Given the description of an element on the screen output the (x, y) to click on. 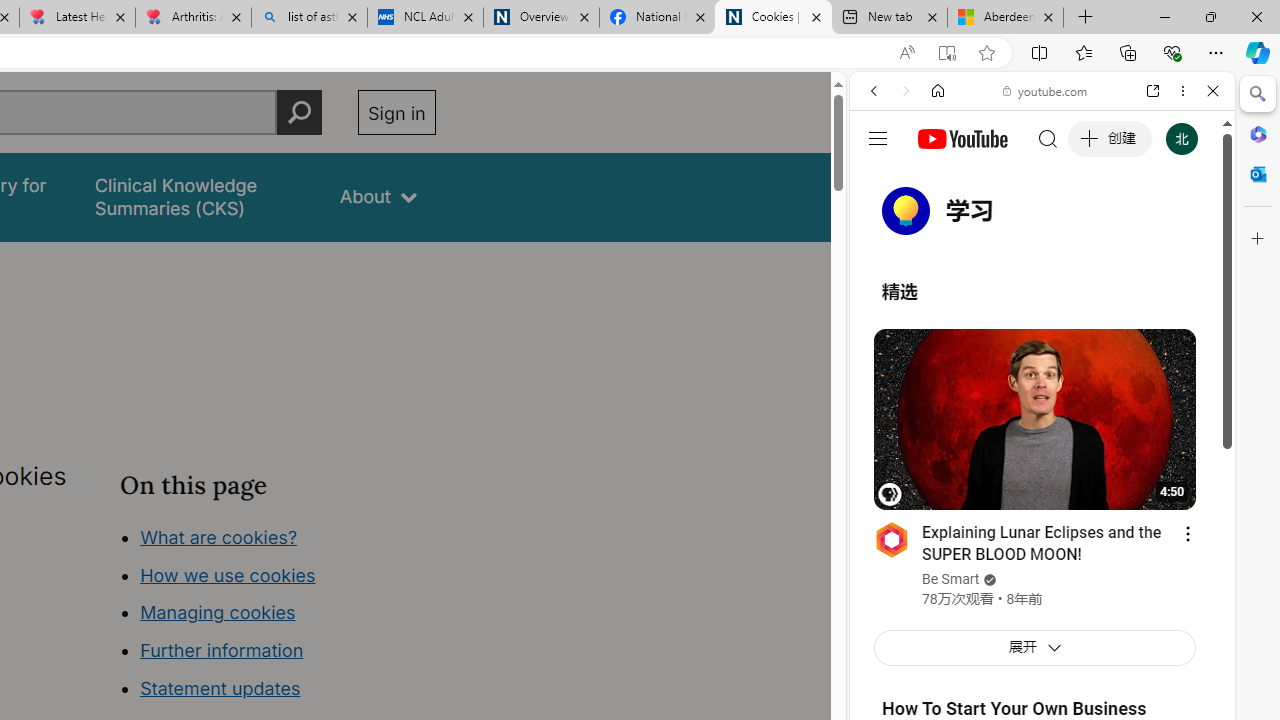
Trailer #2 [HD] (1042, 594)
false (198, 196)
Aberdeen, Hong Kong SAR hourly forecast | Microsoft Weather (1005, 17)
